Given the description of an element on the screen output the (x, y) to click on. 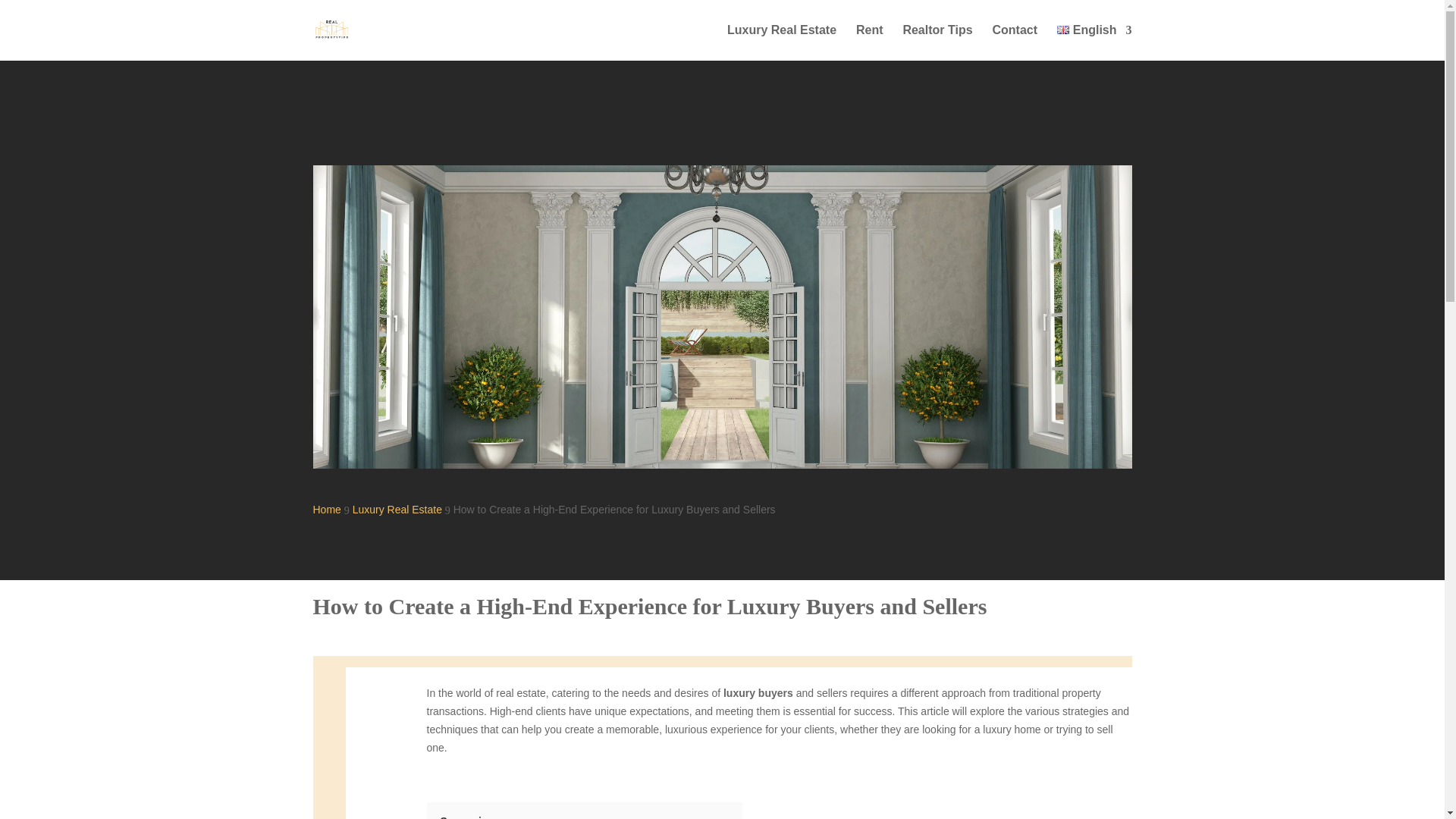
Contact (1013, 42)
Luxury Real Estate (780, 42)
Realtor Tips (937, 42)
English (1094, 42)
Luxury Real Estate (397, 509)
Home (326, 509)
